Given the description of an element on the screen output the (x, y) to click on. 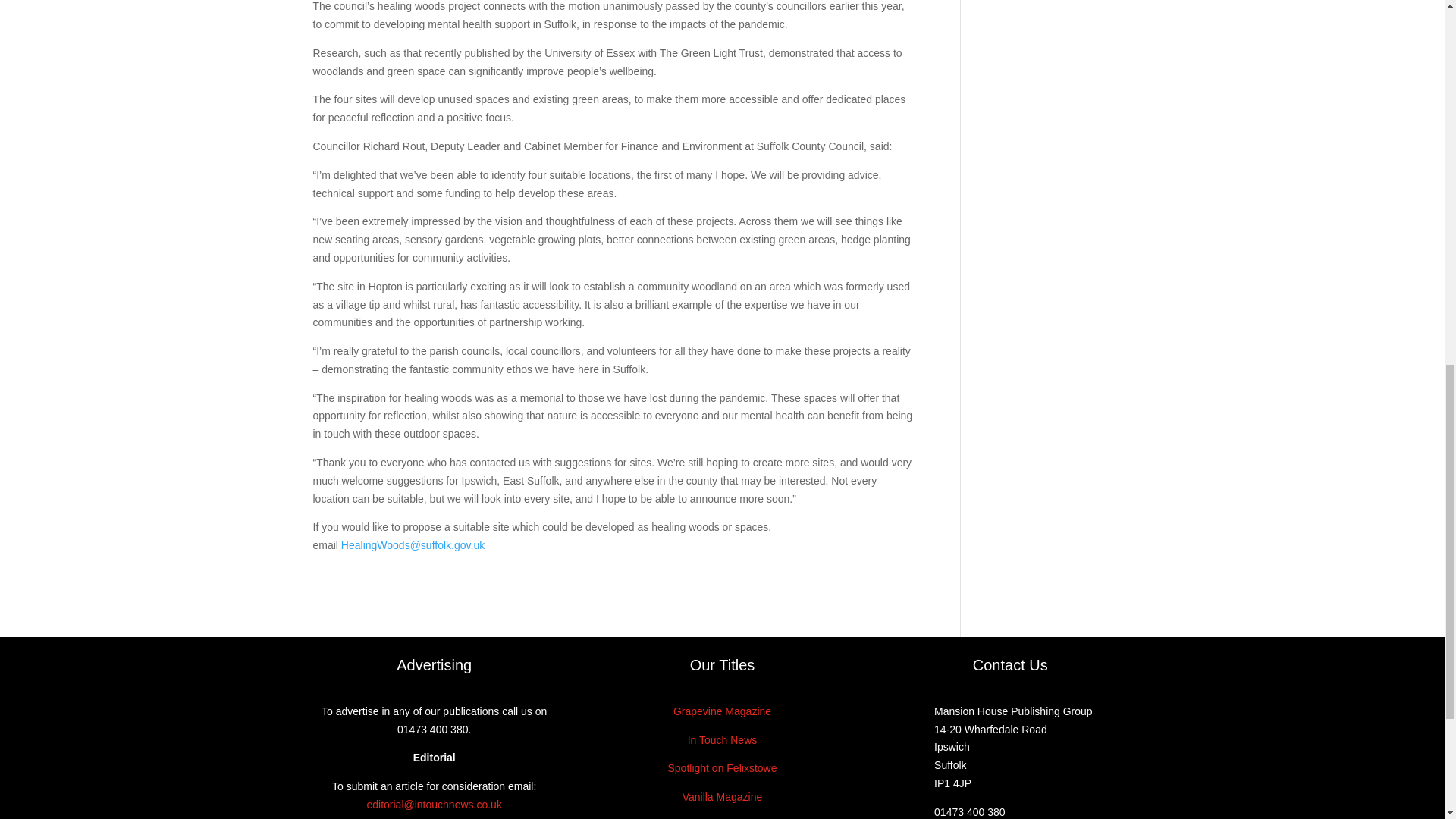
Spotlight on Felixstowe (721, 767)
In Touch News (722, 739)
Vanilla Magazine (722, 797)
Grapevine Magazine (721, 711)
